Given the description of an element on the screen output the (x, y) to click on. 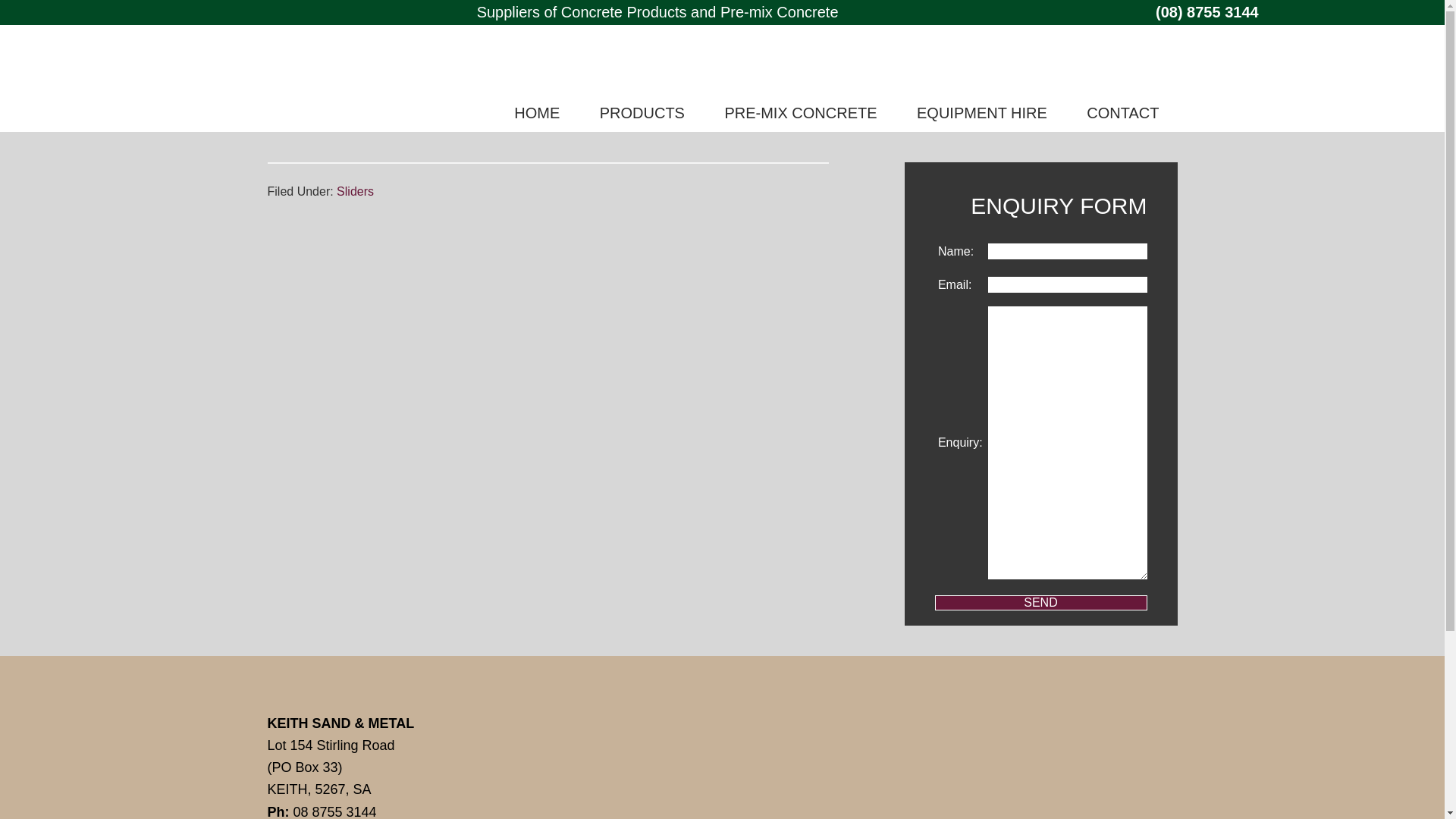
Sliders Element type: text (354, 191)
Keith Sand and Metal Element type: text (353, 78)
EQUIPMENT HIRE Element type: text (981, 111)
PRE-MIX CONCRETE Element type: text (800, 111)
PRODUCTS Element type: text (641, 111)
Send Element type: text (1040, 601)
CONTACT Element type: text (1122, 111)
HOME Element type: text (536, 111)
